Given the description of an element on the screen output the (x, y) to click on. 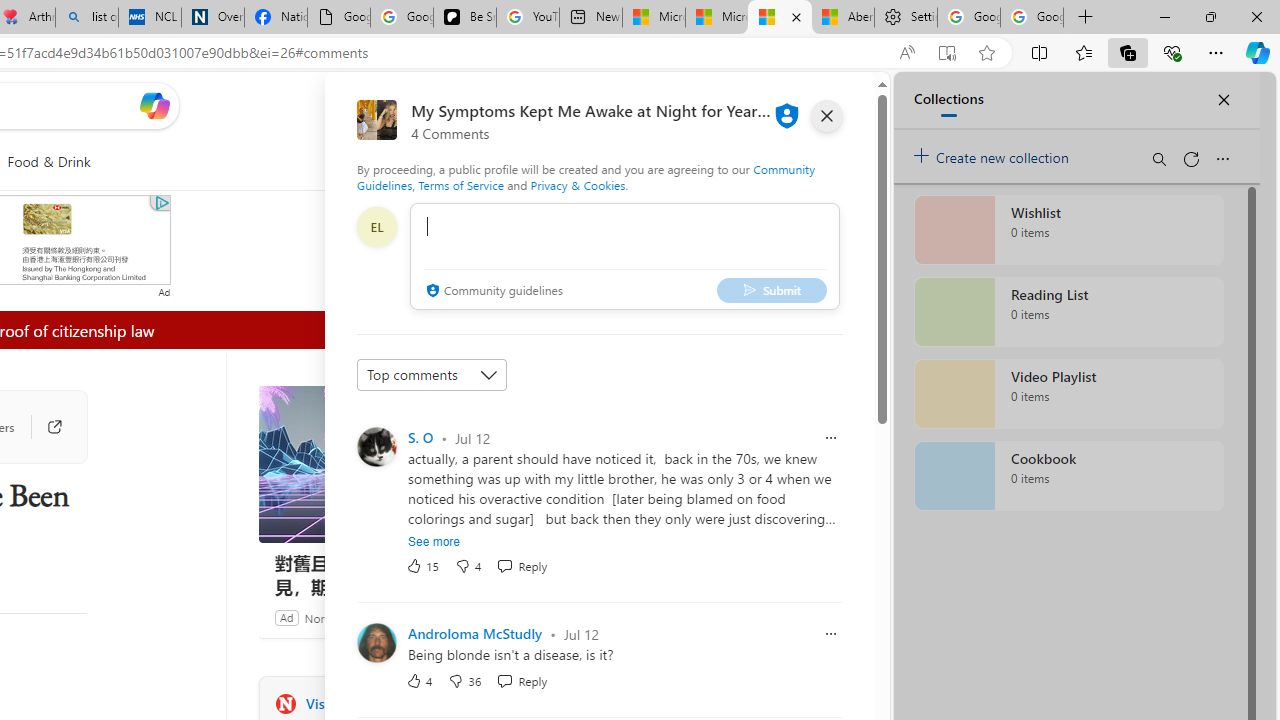
Newsweek (285, 703)
15 Like (422, 565)
Androloma McStudly (475, 633)
S. O (420, 437)
